Given the description of an element on the screen output the (x, y) to click on. 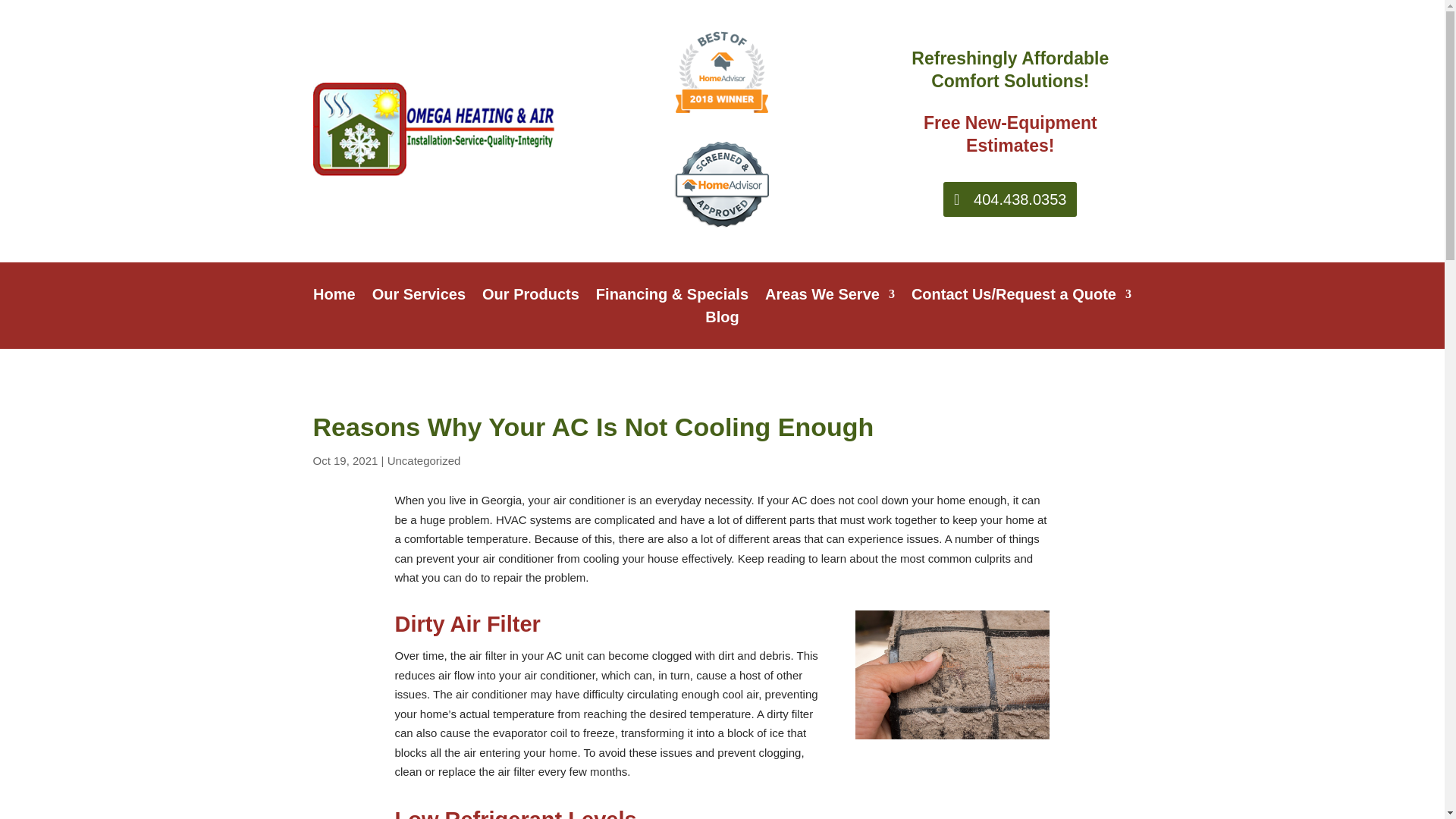
Our Products (530, 297)
Home (334, 297)
404.438.0353 (1010, 199)
Uncategorized (424, 460)
Our Services (418, 297)
Areas We Serve (830, 297)
Blog (721, 320)
Best of HomeAdvisor 2018 Winner (721, 70)
